Given the description of an element on the screen output the (x, y) to click on. 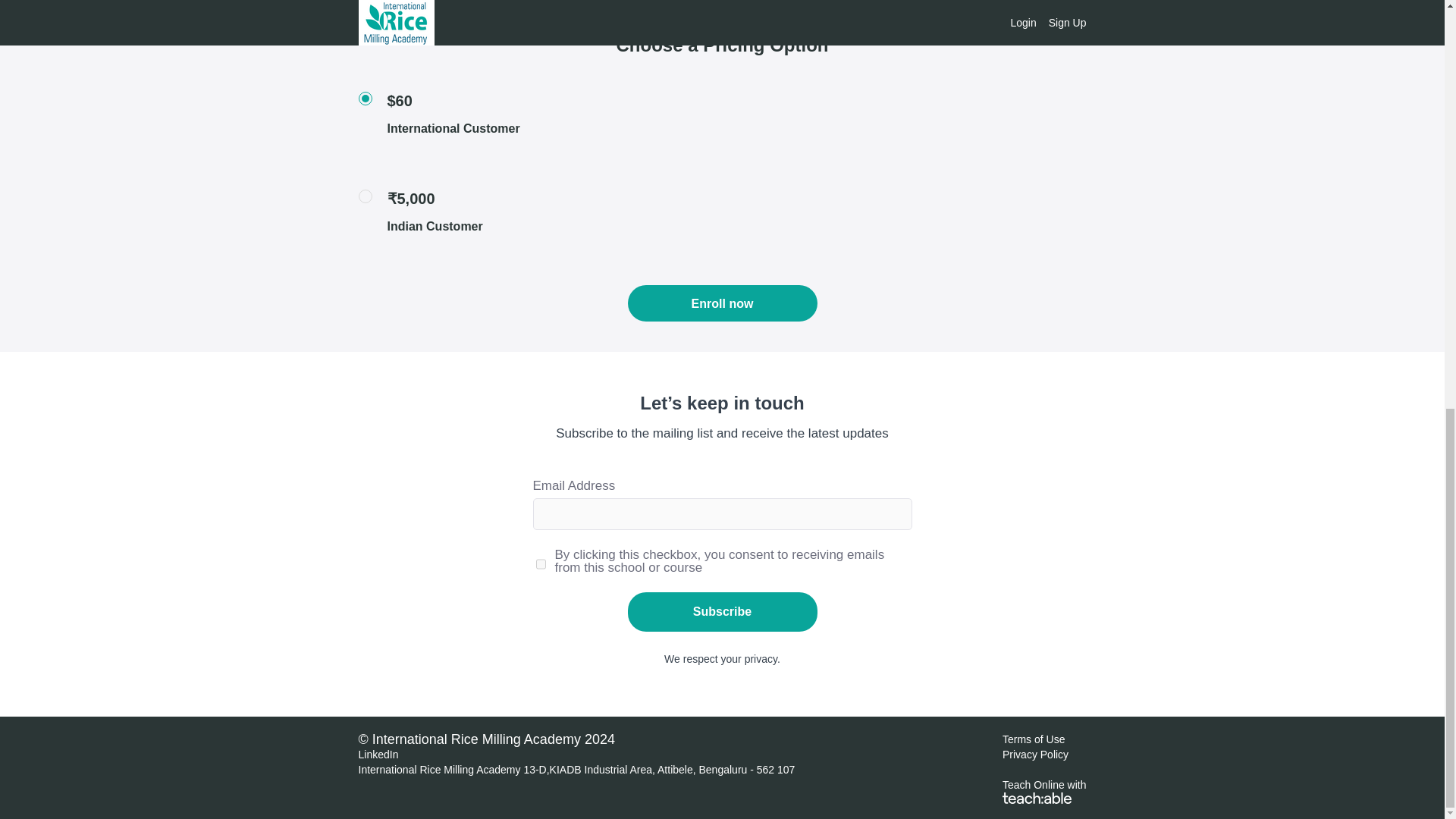
LinkedIn (377, 754)
Teach Online with (1044, 790)
Enroll now (721, 303)
on (539, 564)
Subscribe (721, 611)
Privacy Policy (1035, 754)
Terms of Use (1033, 739)
